Given the description of an element on the screen output the (x, y) to click on. 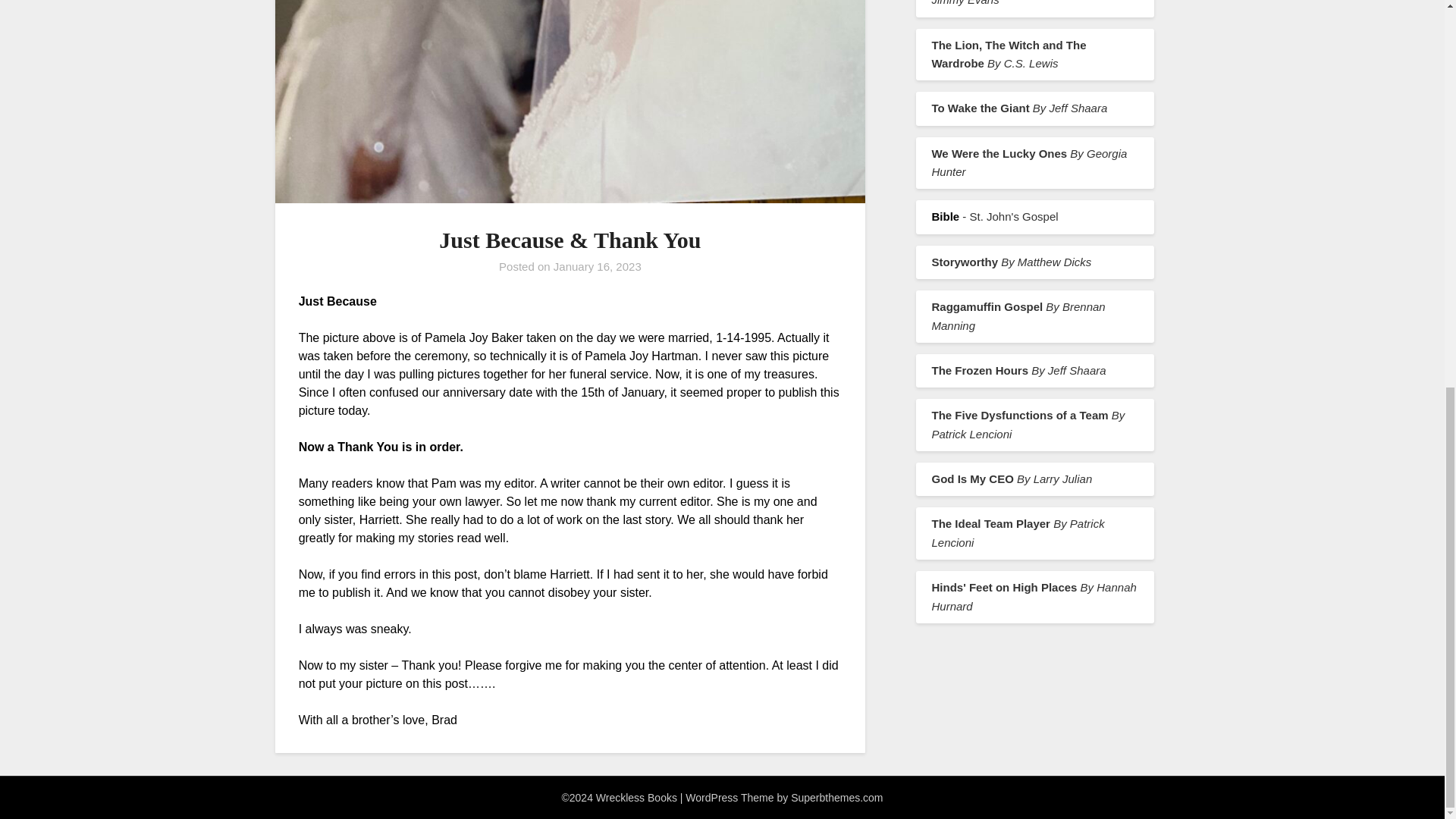
Bible (945, 215)
Superbthemes.com (836, 797)
January 16, 2023 (597, 266)
